Given the description of an element on the screen output the (x, y) to click on. 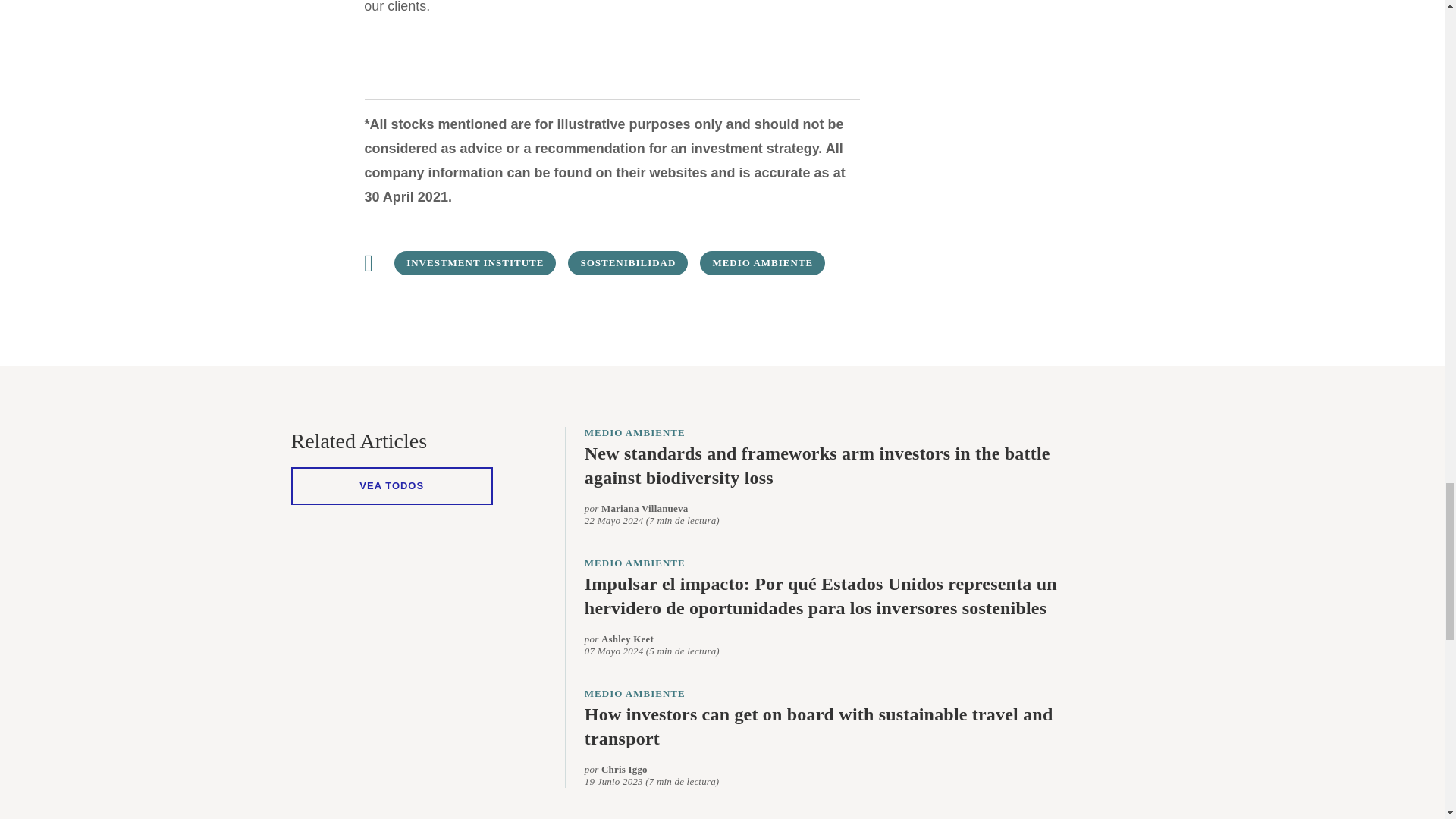
Explore Medio Ambiente insights (762, 262)
Explore Sostenibilidad insights (627, 262)
Explore Investment Institute insights (475, 262)
